Given the description of an element on the screen output the (x, y) to click on. 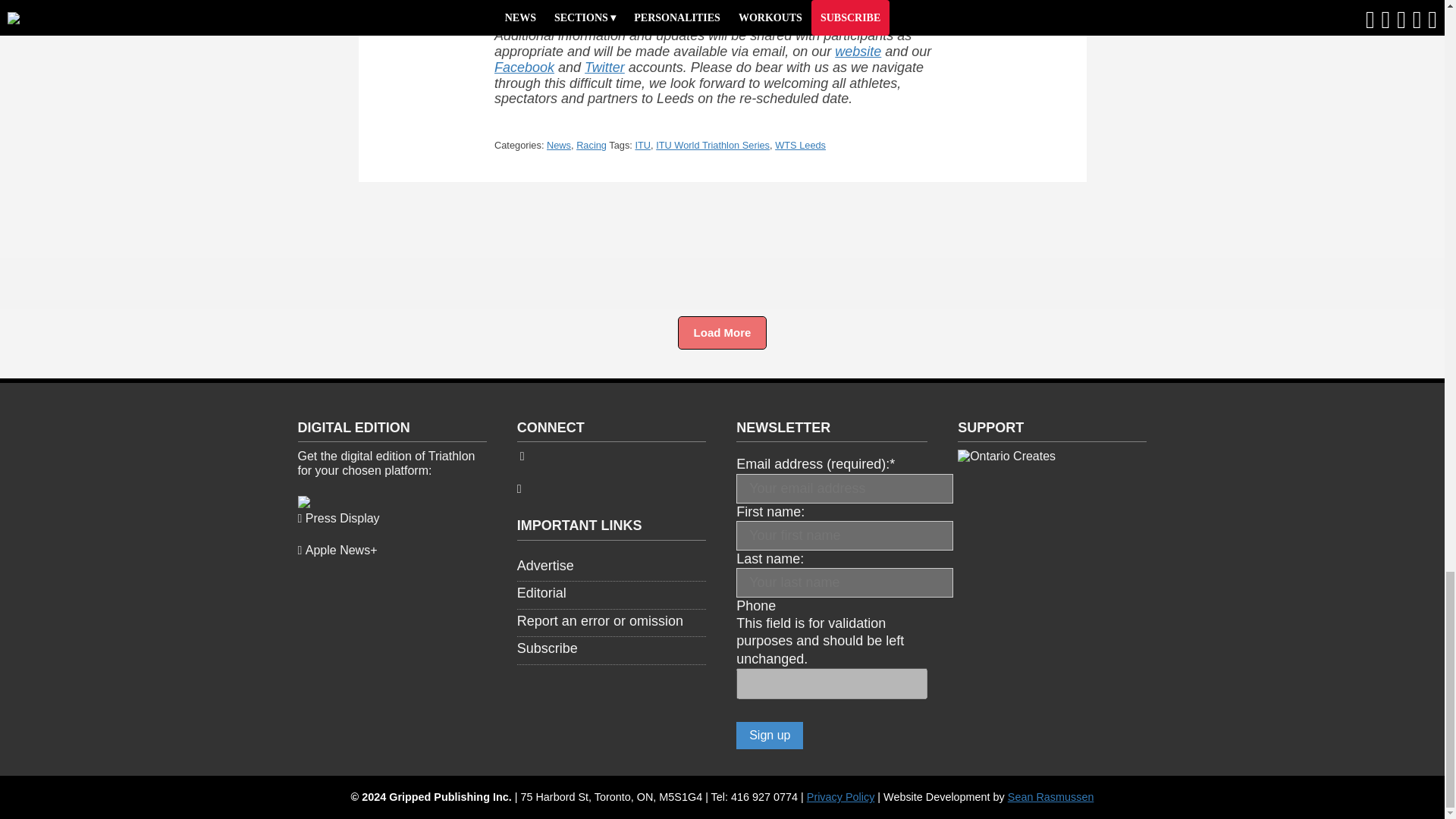
Press Display (337, 517)
Racing (591, 144)
Facebook (524, 67)
WTS Leeds (799, 144)
Sign up (769, 735)
website (857, 51)
ITU (642, 144)
News (558, 144)
Load More (722, 332)
Twitter (604, 67)
Ontario Creates (1006, 455)
ITU World Triathlon Series (713, 144)
